Given the description of an element on the screen output the (x, y) to click on. 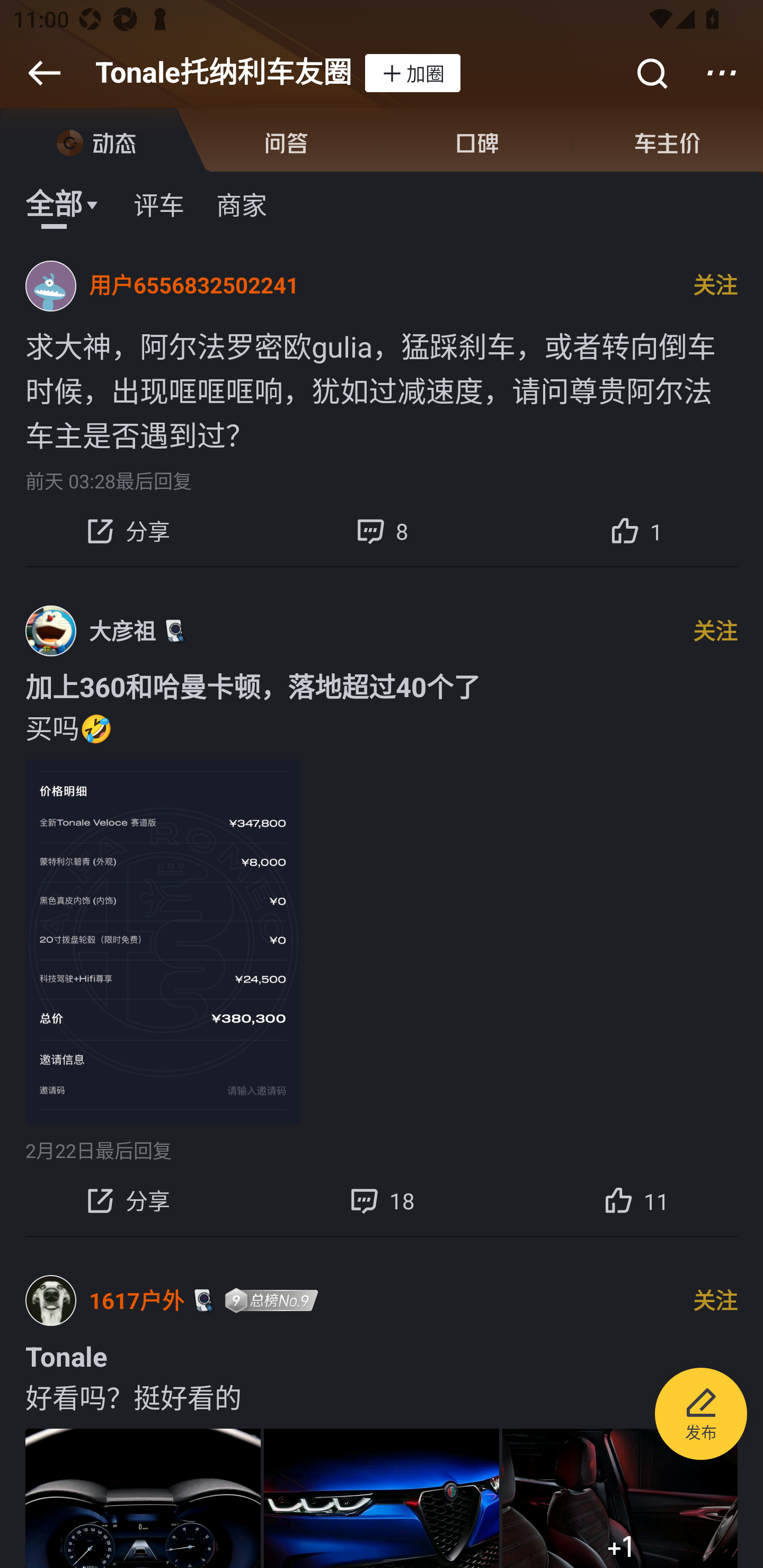
 (44, 72)
 加圈 (412, 72)
 (651, 72)
 (721, 72)
全部  (63, 202)
评车 (158, 202)
商家 (241, 202)
关注 (714, 286)
用户6556832502241 (194, 285)
 分享 (127, 531)
 8 (381, 531)
1 (635, 531)
关注 (714, 630)
大彦祖 (122, 630)
买吗🤣 (381, 726)
 分享 (127, 1200)
 18 (381, 1200)
11 (635, 1200)
关注 (714, 1300)
1617户外 (136, 1300)
 发布 (701, 1416)
好看吗？挺好看的 (381, 1395)
+1 (381, 1498)
+1 (619, 1498)
